Given the description of an element on the screen output the (x, y) to click on. 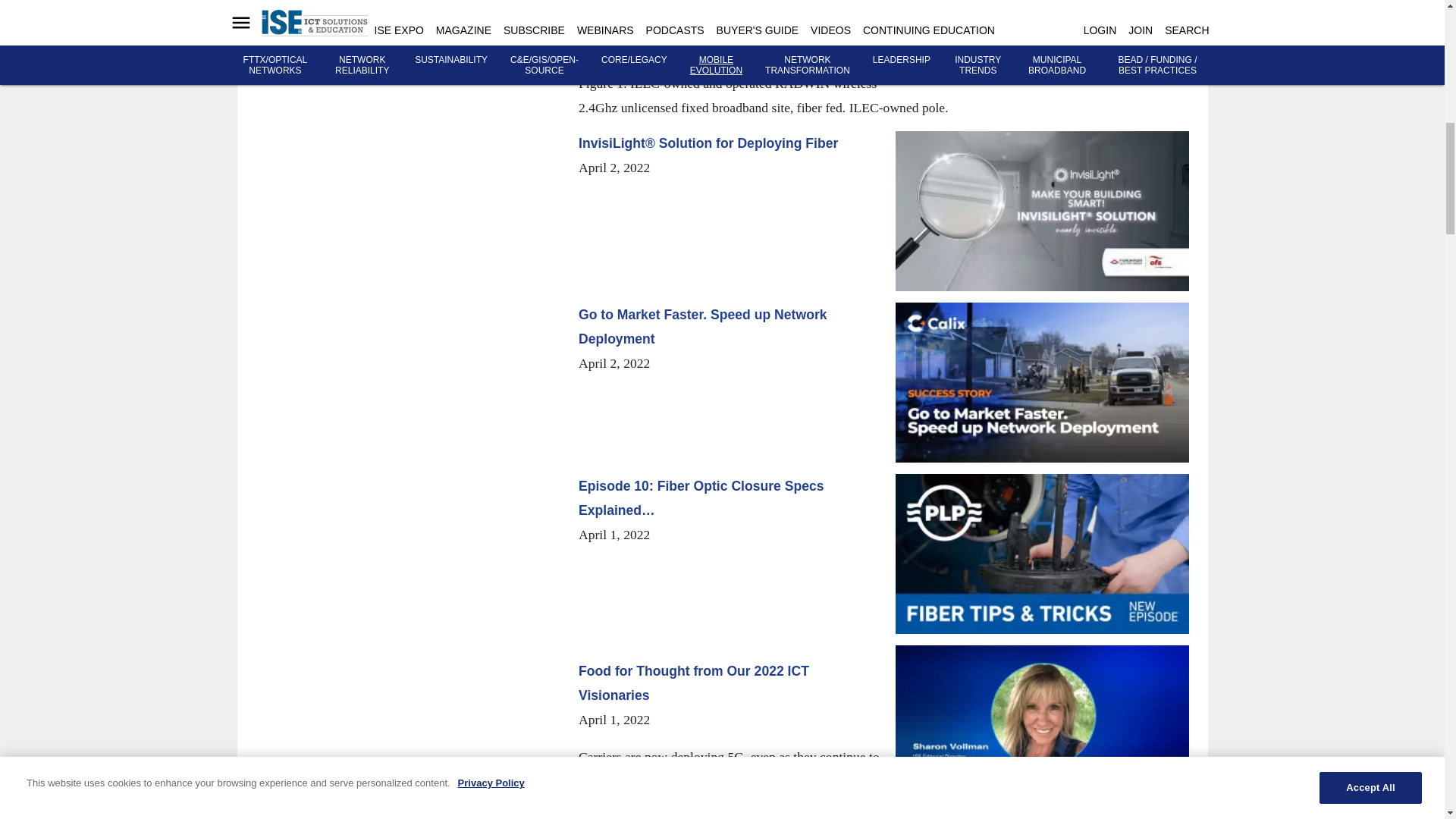
Ise S Vollman2022 2x 300x144 (1041, 715)
1648062029 Ofsise Video Sponsorship Apr2022 300x164 (1041, 211)
Plp Ftt Episode10 1200x657 300x164 (1041, 553)
